Given the description of an element on the screen output the (x, y) to click on. 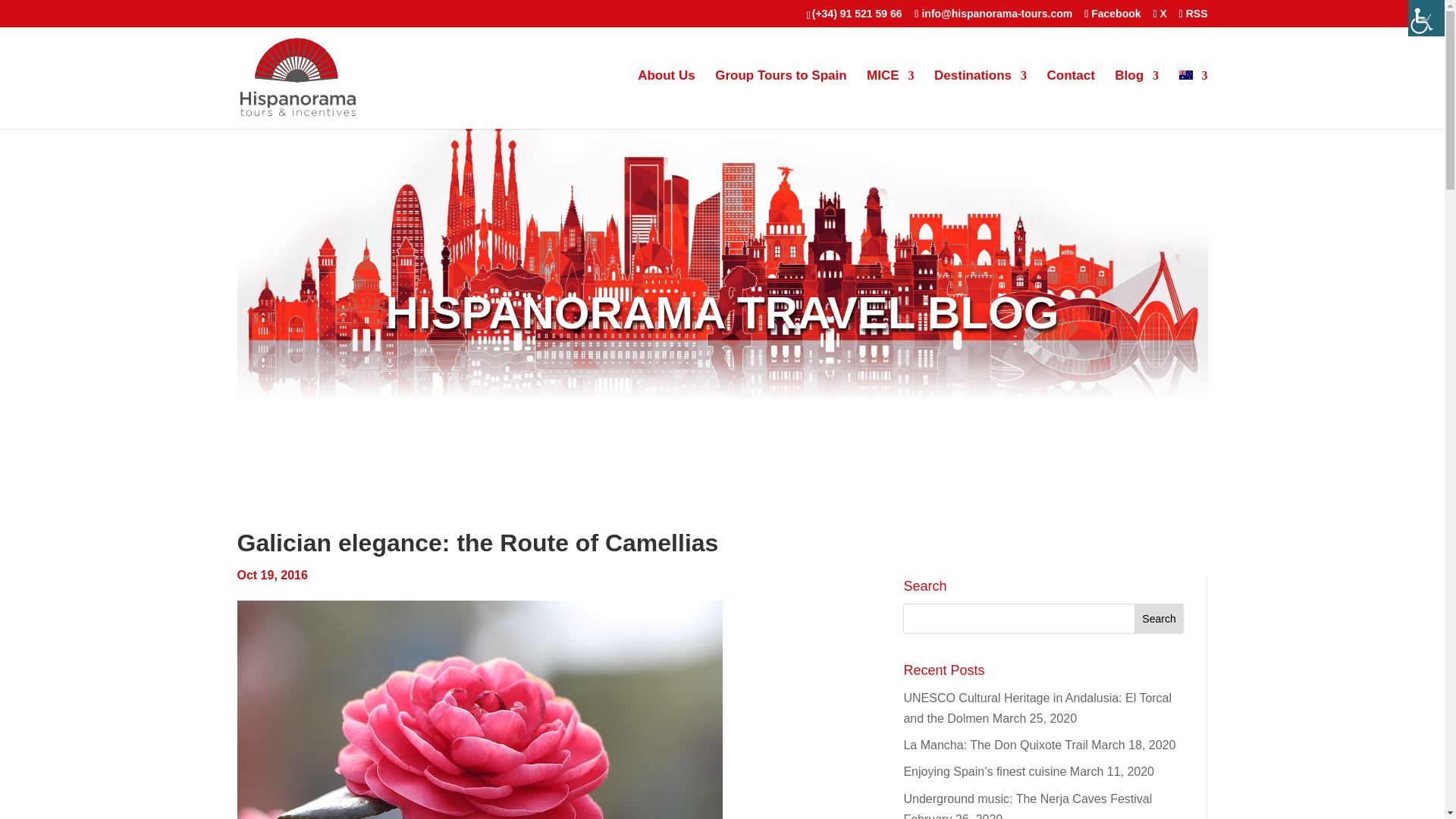
RSS (1193, 12)
Search (1159, 618)
Facebook (1112, 12)
Destinations (980, 99)
Group Tours to Spain (779, 99)
About Us (666, 99)
X (1159, 12)
